Given the description of an element on the screen output the (x, y) to click on. 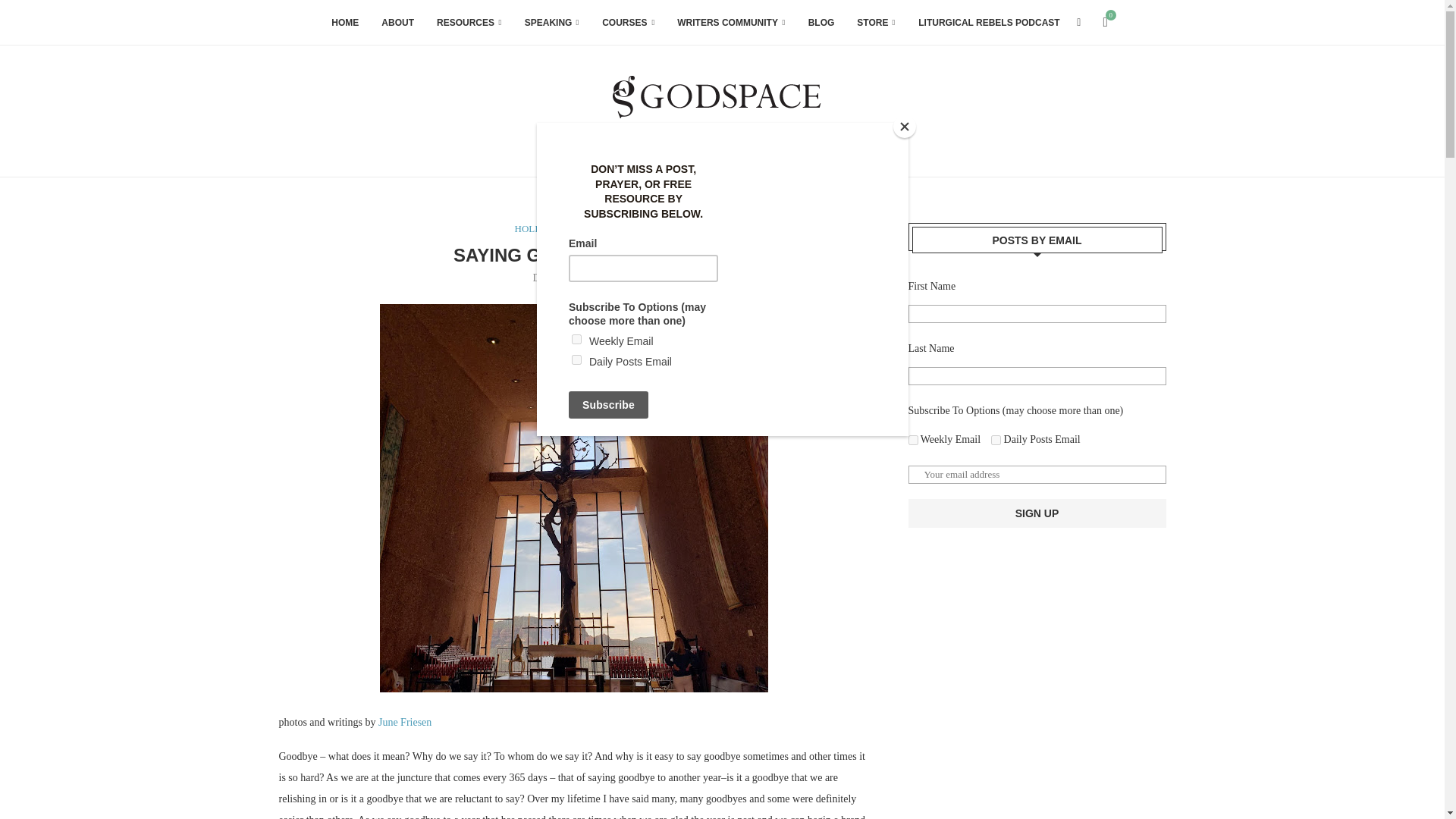
53090618e5 (996, 439)
SPEAKING (551, 22)
LITURGICAL REBELS PODCAST (988, 22)
Sign up (1037, 512)
7316919972 (913, 439)
COURSES (627, 22)
WRITERS COMMUNITY (730, 22)
RESOURCES (469, 22)
